Given the description of an element on the screen output the (x, y) to click on. 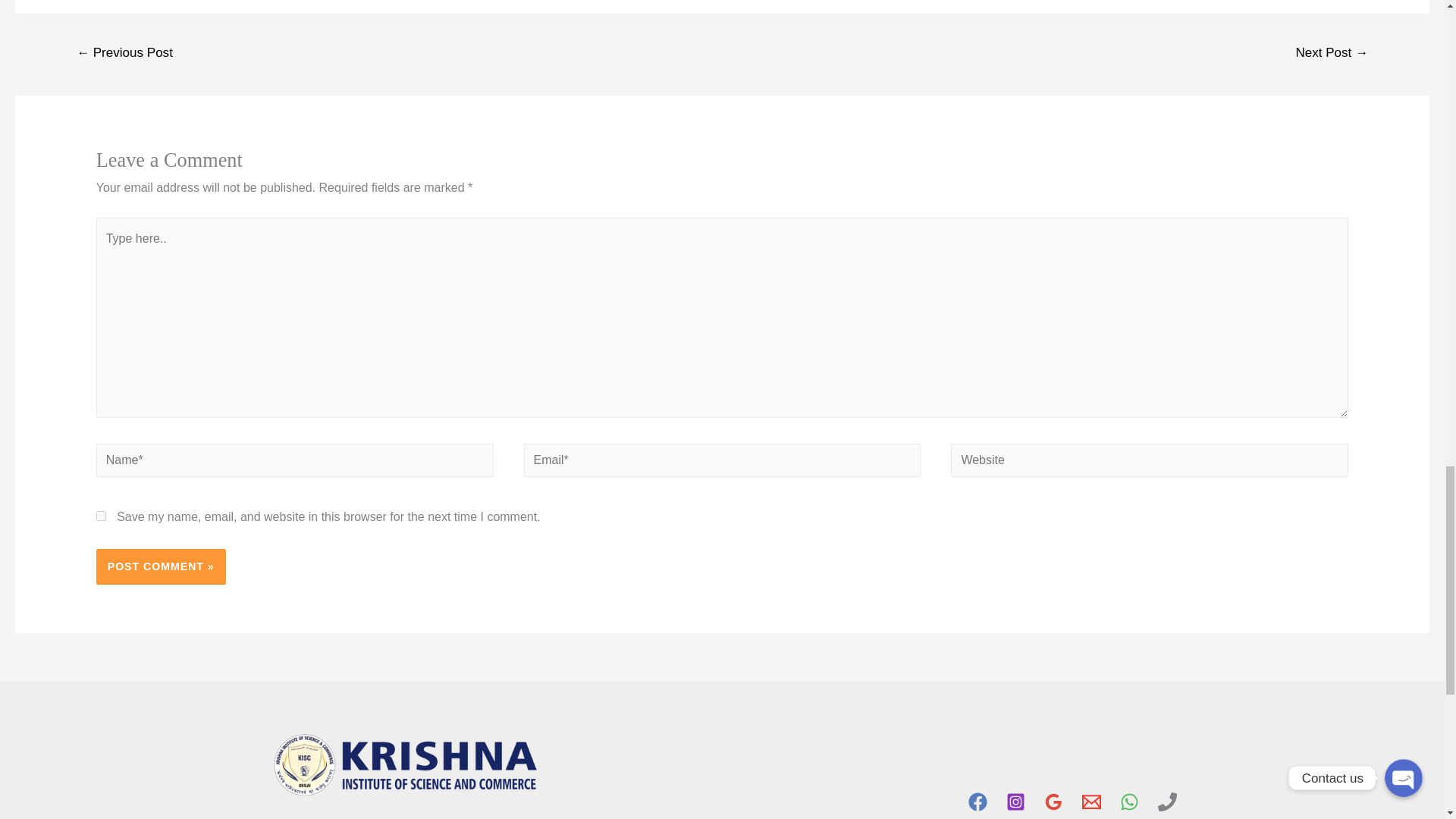
yes (101, 515)
